Given the description of an element on the screen output the (x, y) to click on. 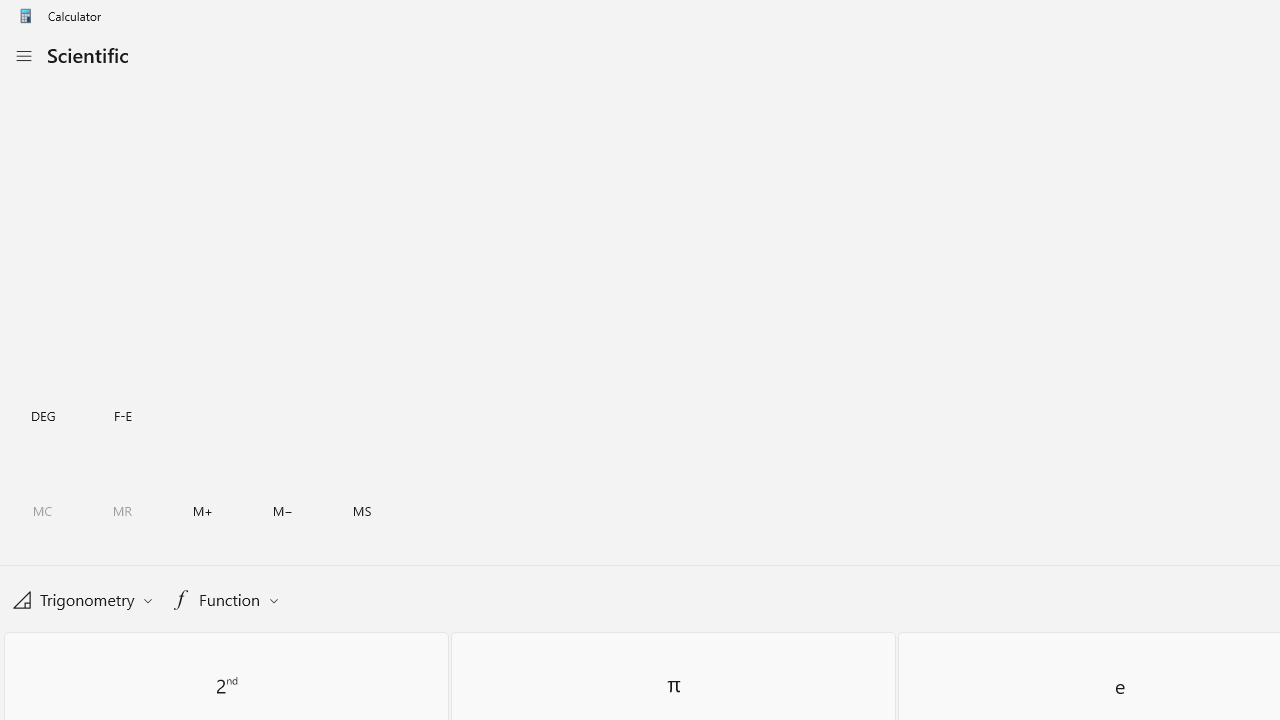
Memory add (202, 511)
Memory store (362, 511)
Clear all memory (42, 511)
Memory subtract (283, 511)
Functions (225, 598)
Trigonometry (82, 599)
Open Navigation (23, 56)
Degrees toggle (42, 414)
Memory recall (123, 511)
Functions (224, 599)
Trigonometry (82, 598)
Scientific notation (123, 414)
